Given the description of an element on the screen output the (x, y) to click on. 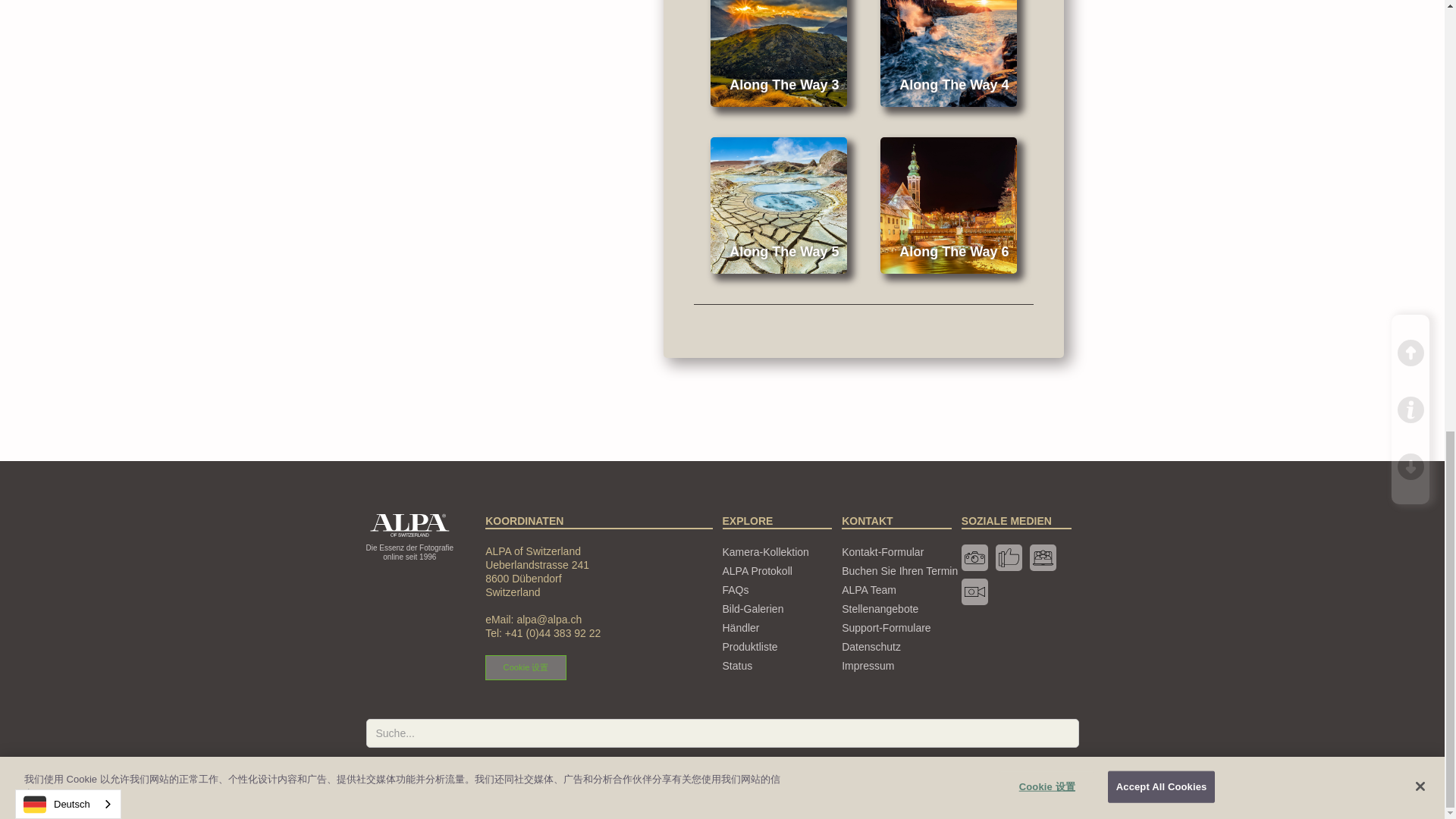
Suche (1052, 775)
Suche (1052, 775)
